Given the description of an element on the screen output the (x, y) to click on. 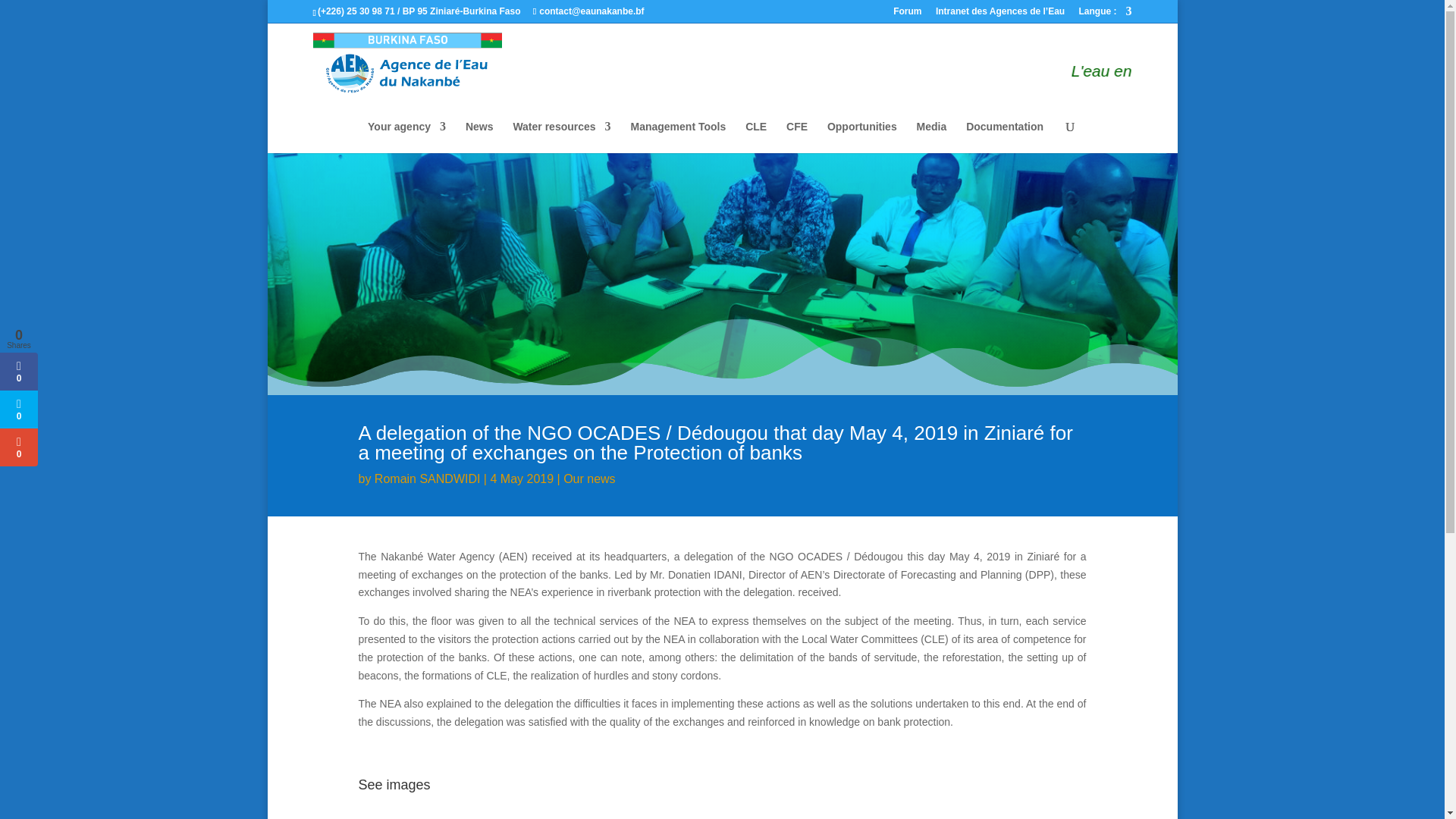
Posts by Romain SANDWIDI (427, 478)
Forum (907, 14)
Langue : (1104, 14)
Opportunities (861, 137)
Management Tools (677, 137)
Your agency (406, 137)
Media (932, 137)
Water resources (561, 137)
Documentation (1004, 137)
Romain SANDWIDI (427, 478)
Our news (588, 478)
